Given the description of an element on the screen output the (x, y) to click on. 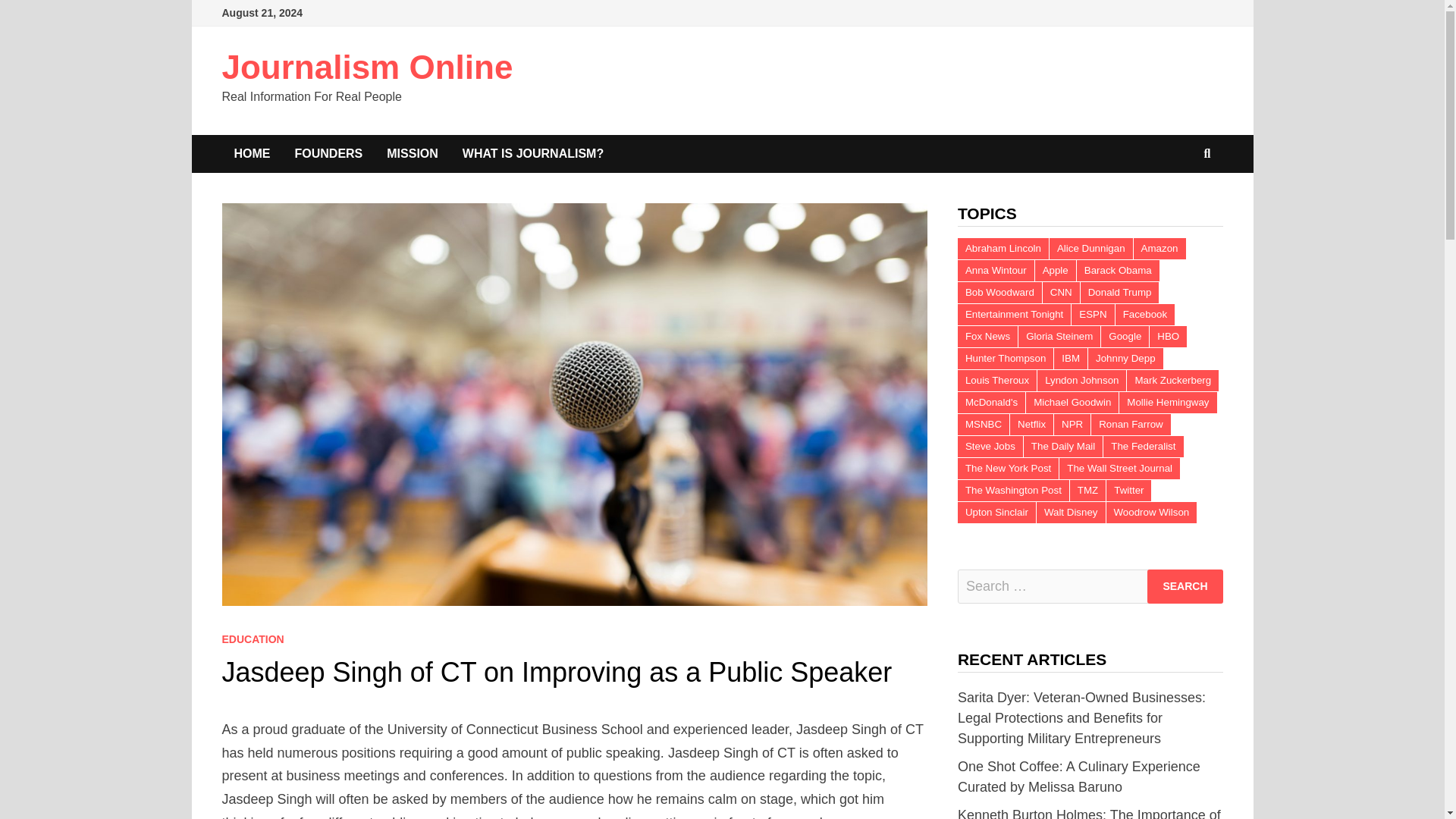
Journalism Online (366, 66)
CNN (1061, 292)
Barack Obama (1117, 270)
Alice Dunnigan (1090, 248)
Apple (1055, 270)
Fox News (987, 336)
MISSION (411, 153)
Entertainment Tonight (1014, 314)
ESPN (1092, 314)
Search (1185, 586)
